Given the description of an element on the screen output the (x, y) to click on. 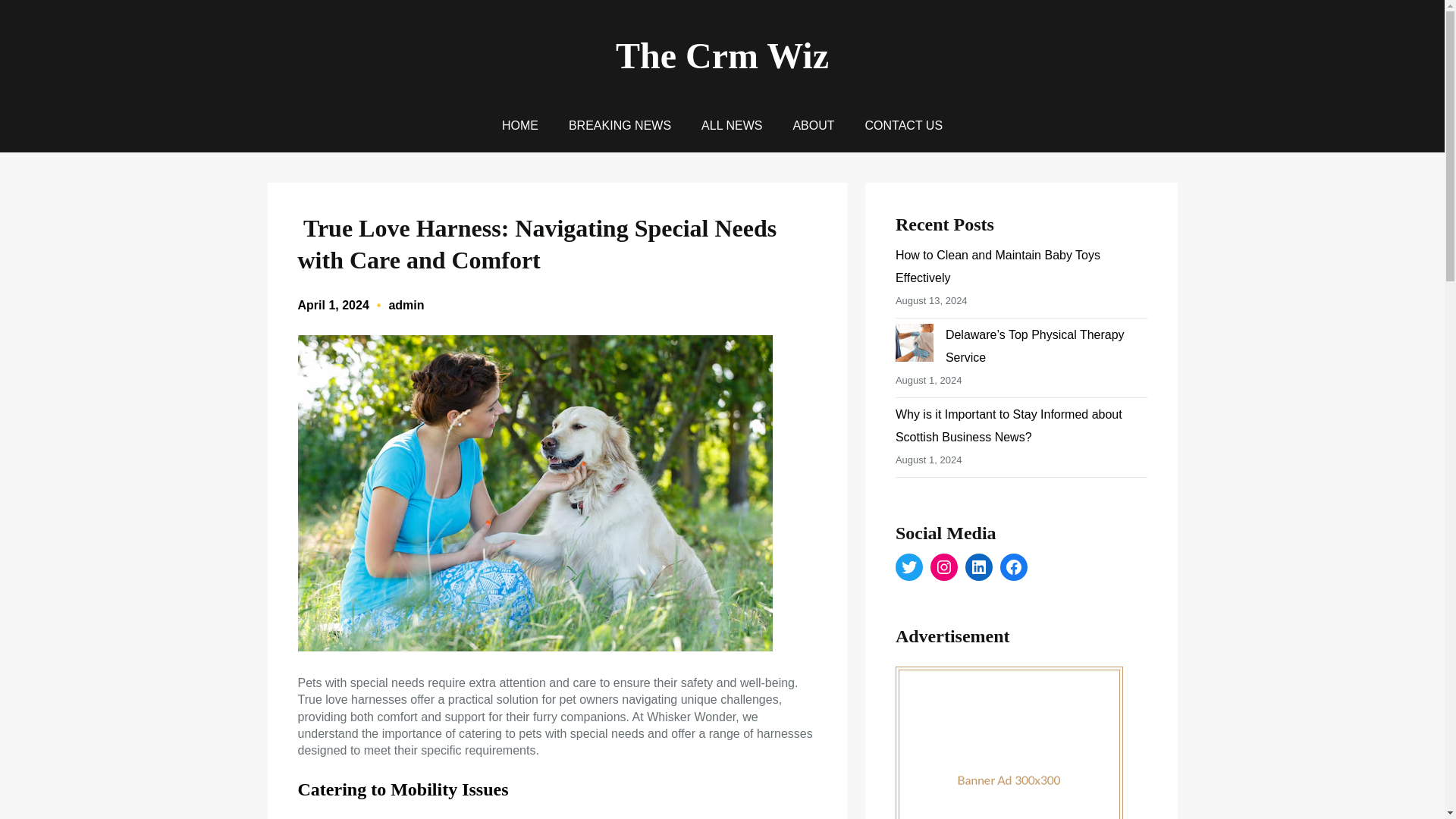
CONTACT US (903, 125)
ABOUT (813, 125)
LinkedIn (978, 566)
Instagram (944, 566)
Twitter (909, 566)
The Crm Wiz (721, 56)
admin (405, 305)
How to Clean and Maintain Baby Toys Effectively (997, 266)
ALL NEWS (731, 125)
